Given the description of an element on the screen output the (x, y) to click on. 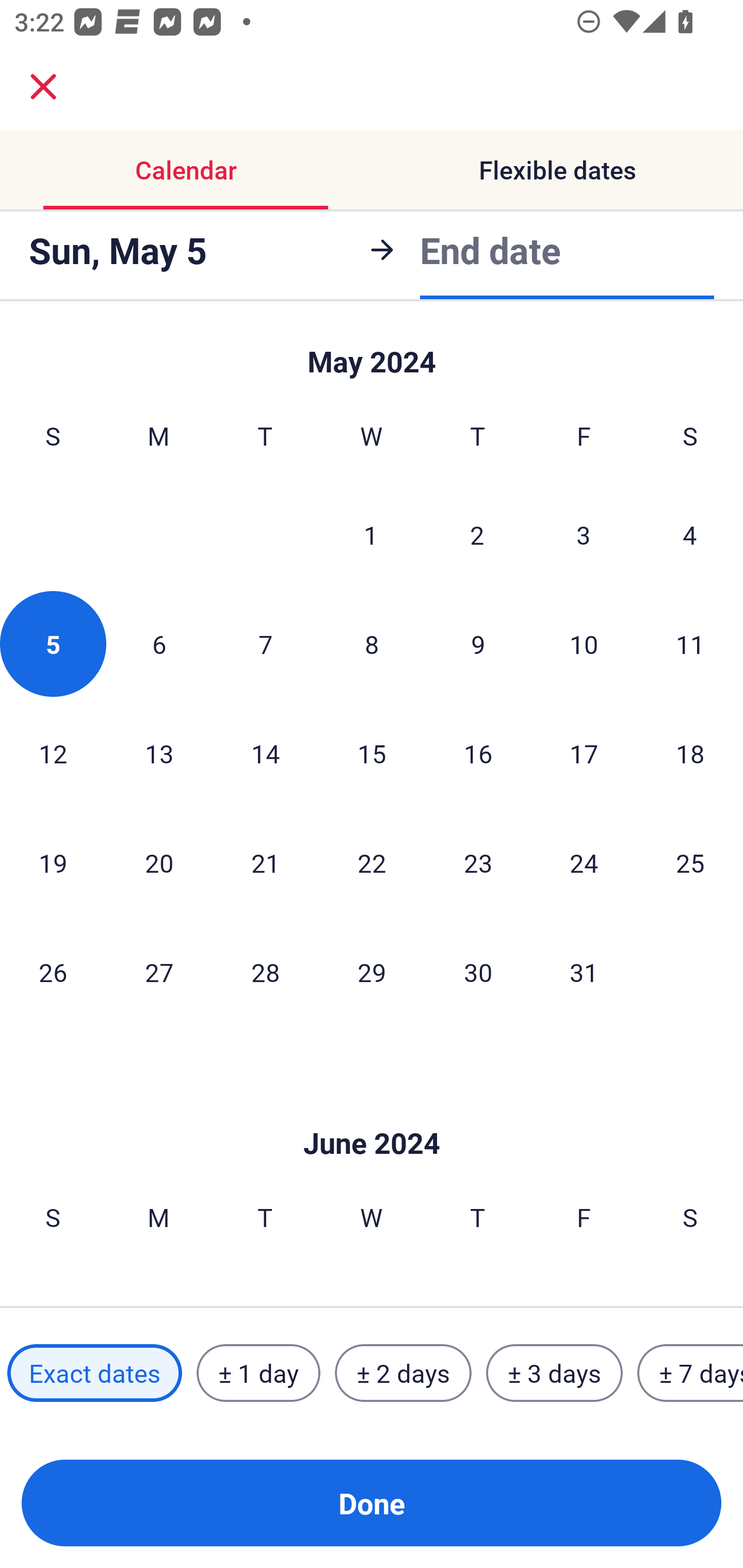
close. (43, 86)
Flexible dates (557, 170)
End date (489, 247)
Skip to Done (371, 352)
1 Wednesday, May 1, 2024 (371, 534)
2 Thursday, May 2, 2024 (477, 534)
3 Friday, May 3, 2024 (583, 534)
4 Saturday, May 4, 2024 (689, 534)
6 Monday, May 6, 2024 (159, 643)
7 Tuesday, May 7, 2024 (265, 643)
8 Wednesday, May 8, 2024 (371, 643)
9 Thursday, May 9, 2024 (477, 643)
10 Friday, May 10, 2024 (584, 643)
11 Saturday, May 11, 2024 (690, 643)
12 Sunday, May 12, 2024 (53, 752)
13 Monday, May 13, 2024 (159, 752)
14 Tuesday, May 14, 2024 (265, 752)
15 Wednesday, May 15, 2024 (371, 752)
16 Thursday, May 16, 2024 (477, 752)
17 Friday, May 17, 2024 (584, 752)
18 Saturday, May 18, 2024 (690, 752)
19 Sunday, May 19, 2024 (53, 862)
20 Monday, May 20, 2024 (159, 862)
21 Tuesday, May 21, 2024 (265, 862)
22 Wednesday, May 22, 2024 (371, 862)
23 Thursday, May 23, 2024 (477, 862)
24 Friday, May 24, 2024 (584, 862)
25 Saturday, May 25, 2024 (690, 862)
26 Sunday, May 26, 2024 (53, 971)
27 Monday, May 27, 2024 (159, 971)
28 Tuesday, May 28, 2024 (265, 971)
29 Wednesday, May 29, 2024 (371, 971)
30 Thursday, May 30, 2024 (477, 971)
31 Friday, May 31, 2024 (584, 971)
Skip to Done (371, 1112)
Exact dates (94, 1372)
± 1 day (258, 1372)
± 2 days (403, 1372)
± 3 days (553, 1372)
± 7 days (690, 1372)
Done (371, 1502)
